Given the description of an element on the screen output the (x, y) to click on. 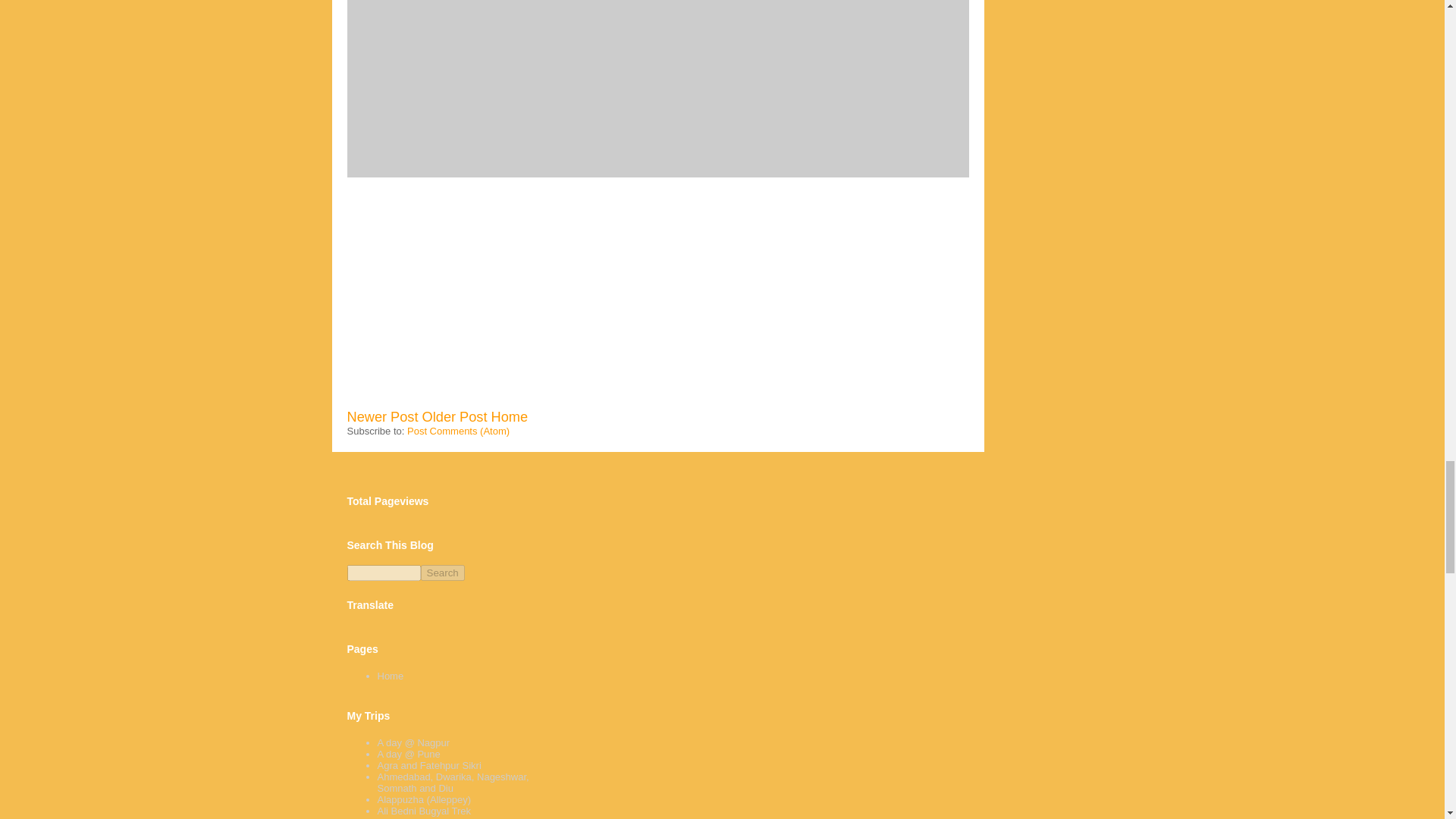
Search (442, 572)
Older Post (454, 417)
Newer Post (383, 417)
search (383, 572)
search (442, 572)
Search (442, 572)
